Given the description of an element on the screen output the (x, y) to click on. 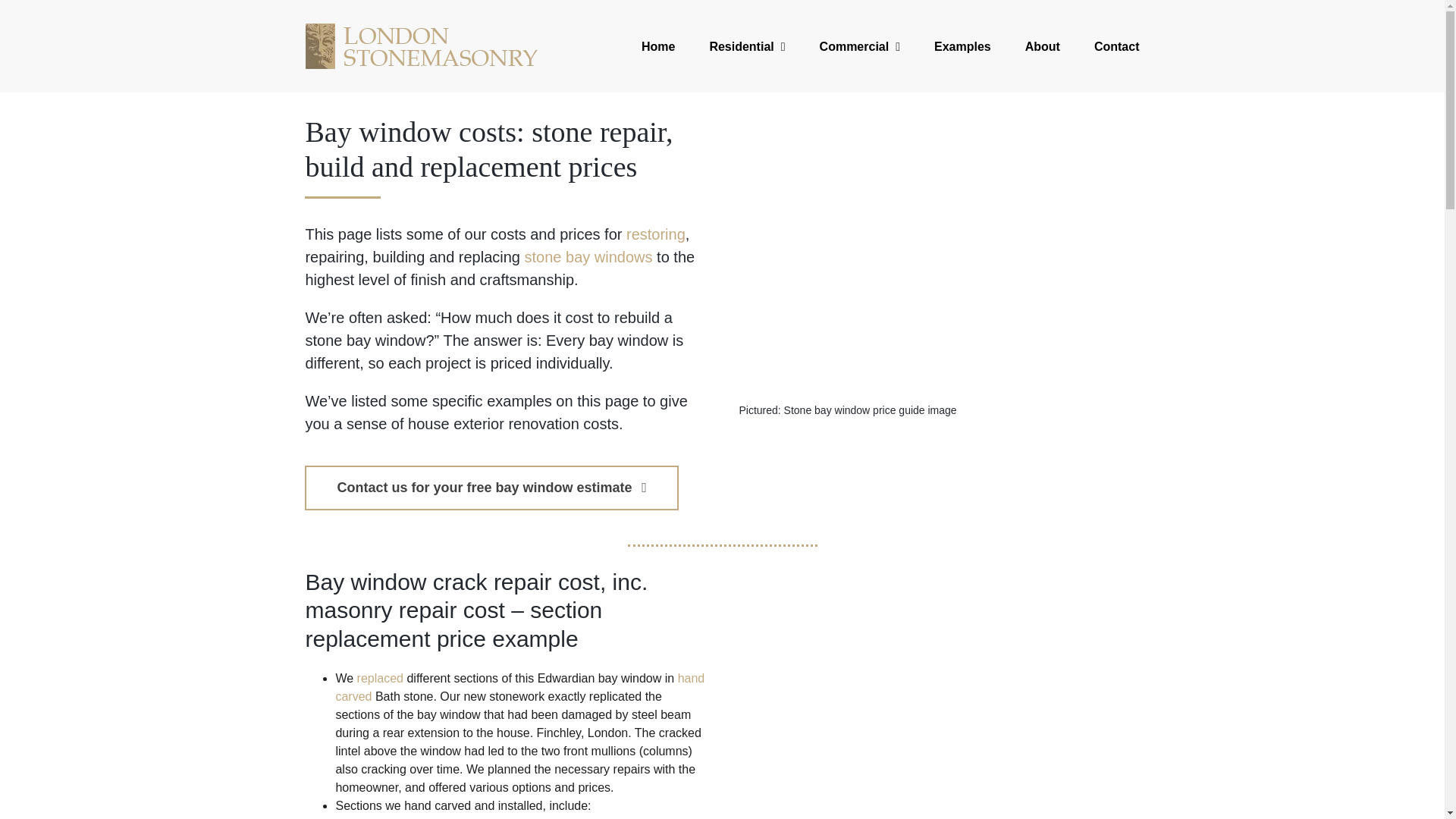
restoring (655, 234)
Contact us for your free bay window estimate (491, 488)
replaced (379, 677)
stone bay windows (588, 256)
hand carved (519, 686)
